Given the description of an element on the screen output the (x, y) to click on. 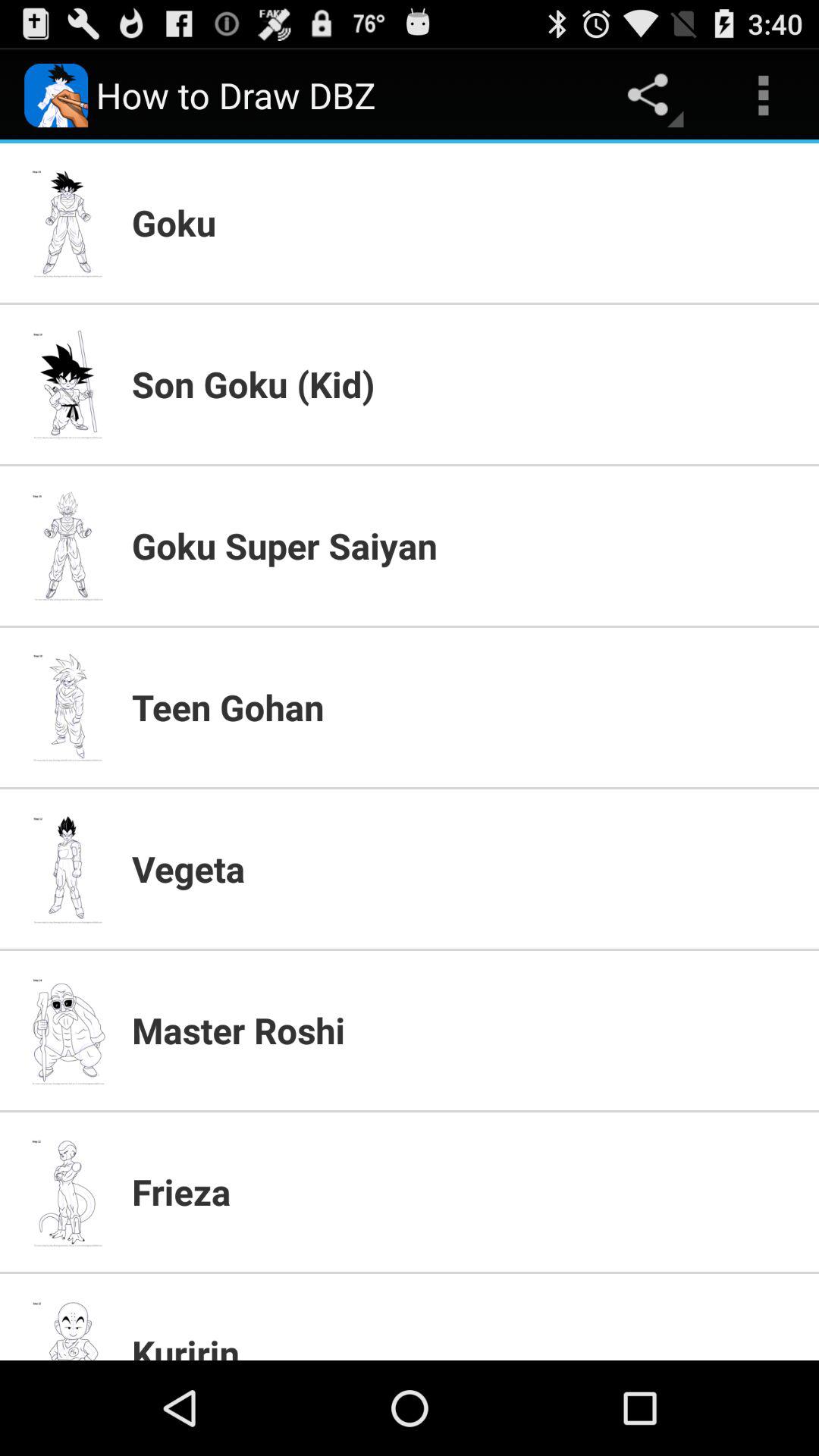
tap item above the kuririn item (465, 1191)
